Given the description of an element on the screen output the (x, y) to click on. 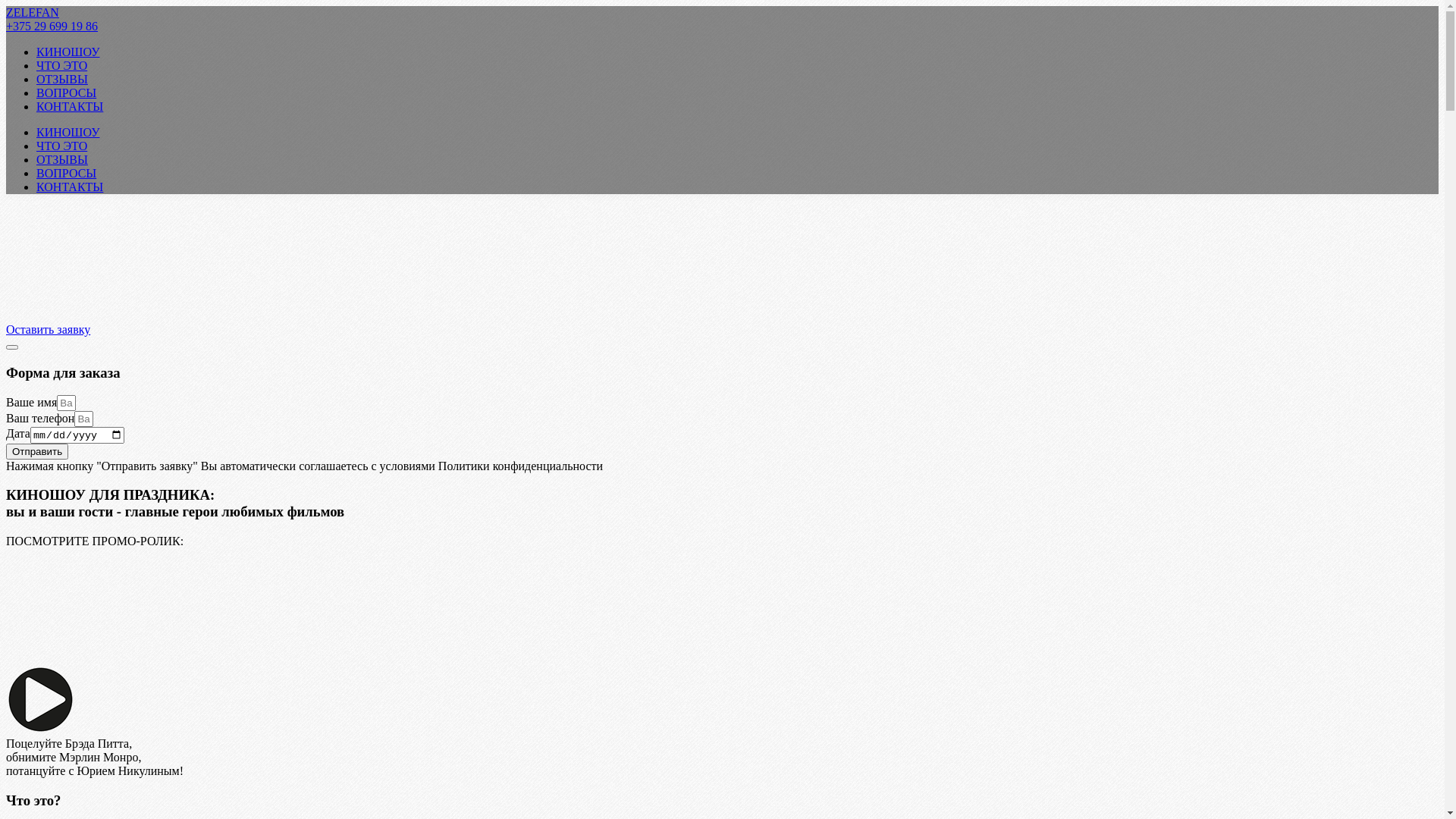
ZELEFAN Element type: text (32, 12)
+375 29 699 19 86 Element type: text (51, 25)
